Given the description of an element on the screen output the (x, y) to click on. 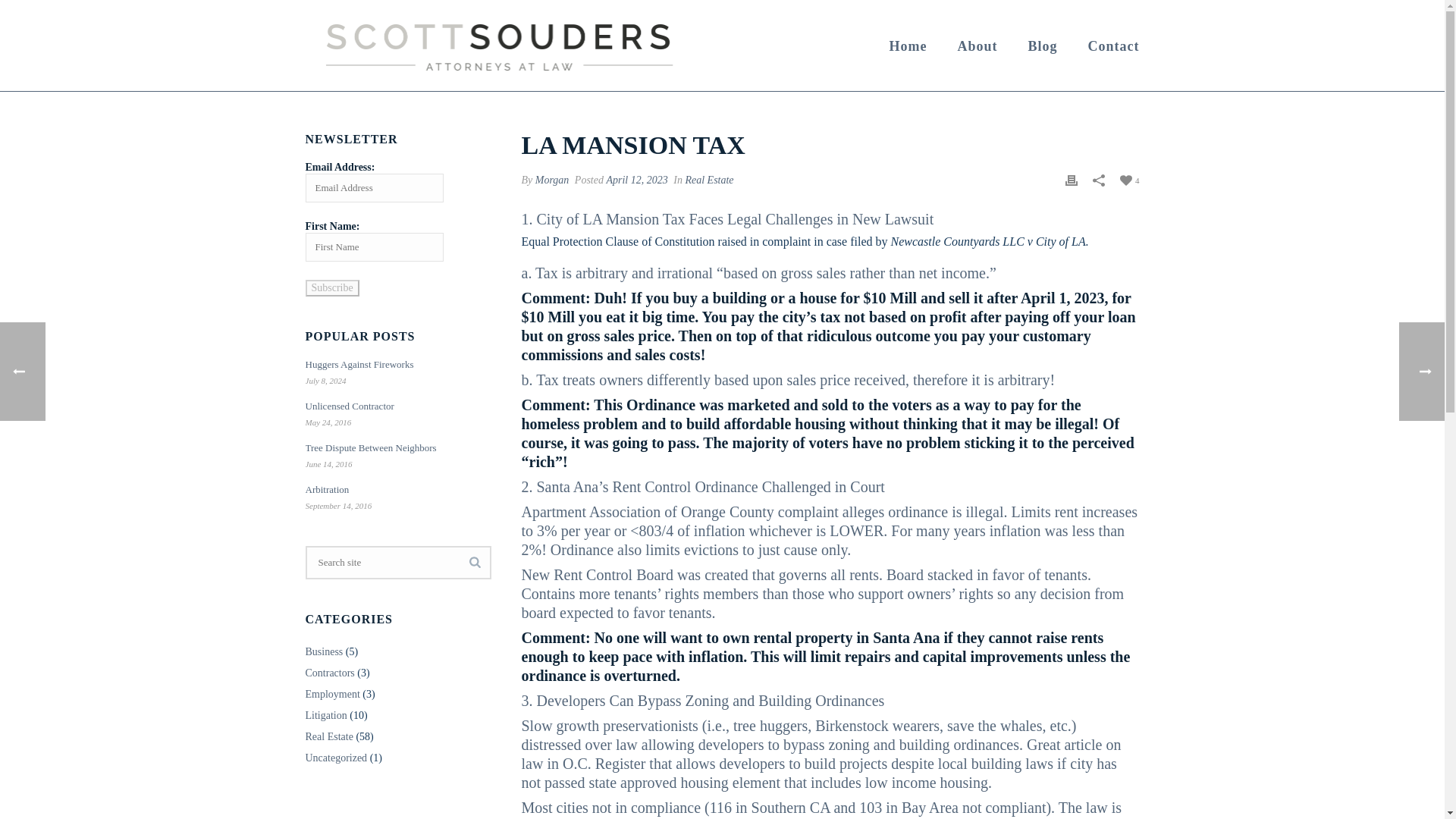
Contact (1112, 45)
Posts by Morgan (552, 179)
About (976, 45)
Contact (1112, 45)
About (976, 45)
Home (907, 45)
4 (1129, 178)
April 12, 2023 (635, 179)
Subscribe (331, 288)
Blog (1041, 45)
Huggers Against Fireworks (393, 364)
Subscribe (331, 288)
Real Estate (708, 179)
Blog (1041, 45)
Morgan (552, 179)
